Given the description of an element on the screen output the (x, y) to click on. 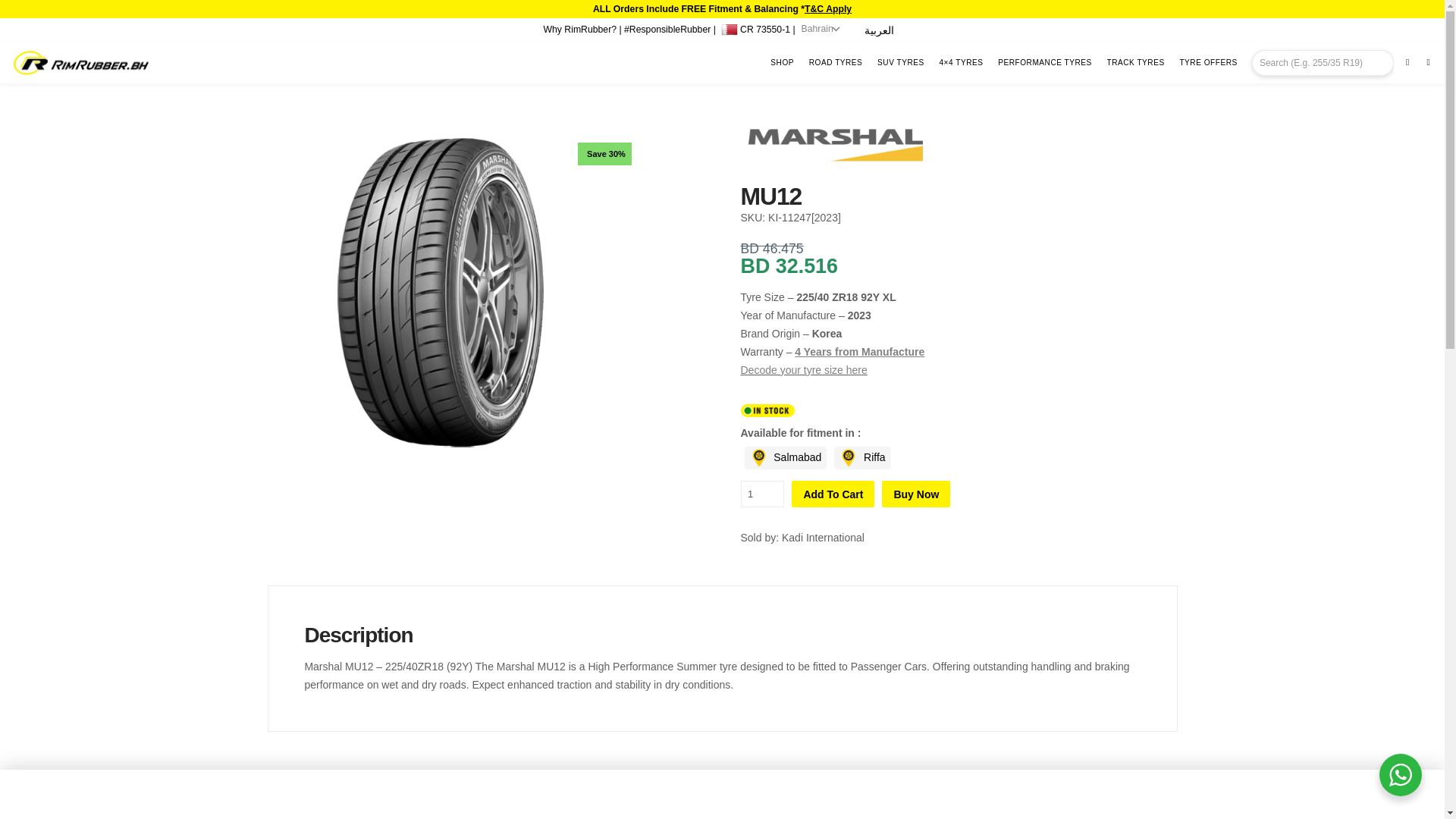
TRACK TYRES (1138, 62)
ROAD TYRES (838, 62)
Language switcher : Arabic (879, 30)
TYRE OFFERS (1211, 62)
Add To Cart (833, 493)
CR 73550-1 (755, 27)
Buy Now (916, 493)
marshal-mu12-left-one-quarter (439, 292)
4 Years from Manufacture (859, 351)
Decode your tyre size here (802, 369)
1 (761, 493)
SUV TYRES (903, 62)
Why RimRubber? (579, 29)
PERFORMANCE TYRES (1047, 62)
